Given the description of an element on the screen output the (x, y) to click on. 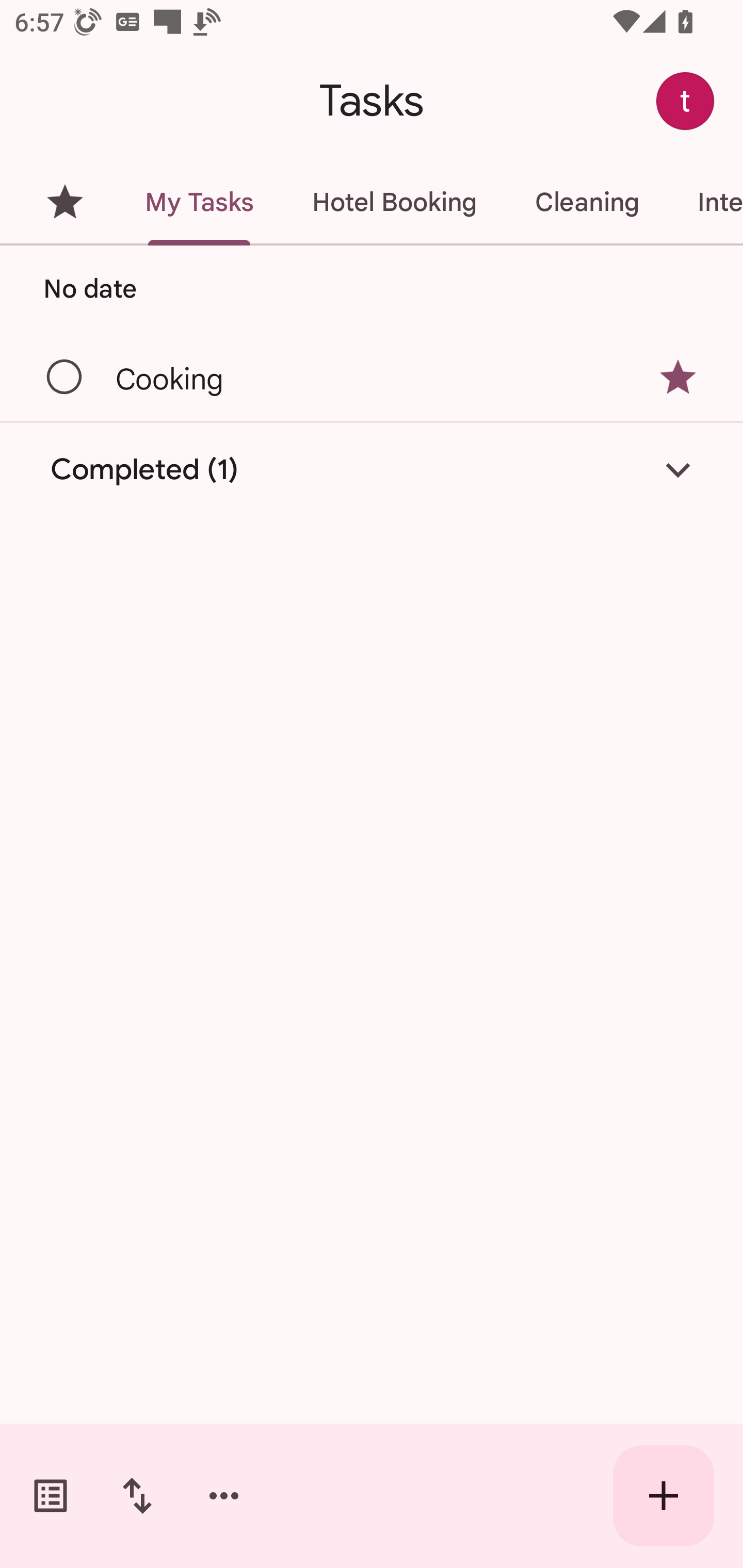
Starred (64, 202)
Hotel Booking (394, 202)
Cleaning (586, 202)
Remove star (677, 376)
Mark as complete (64, 377)
Completed (1) (371, 470)
Switch task lists (50, 1495)
Create new task (663, 1495)
Change sort order (136, 1495)
More options (223, 1495)
